Given the description of an element on the screen output the (x, y) to click on. 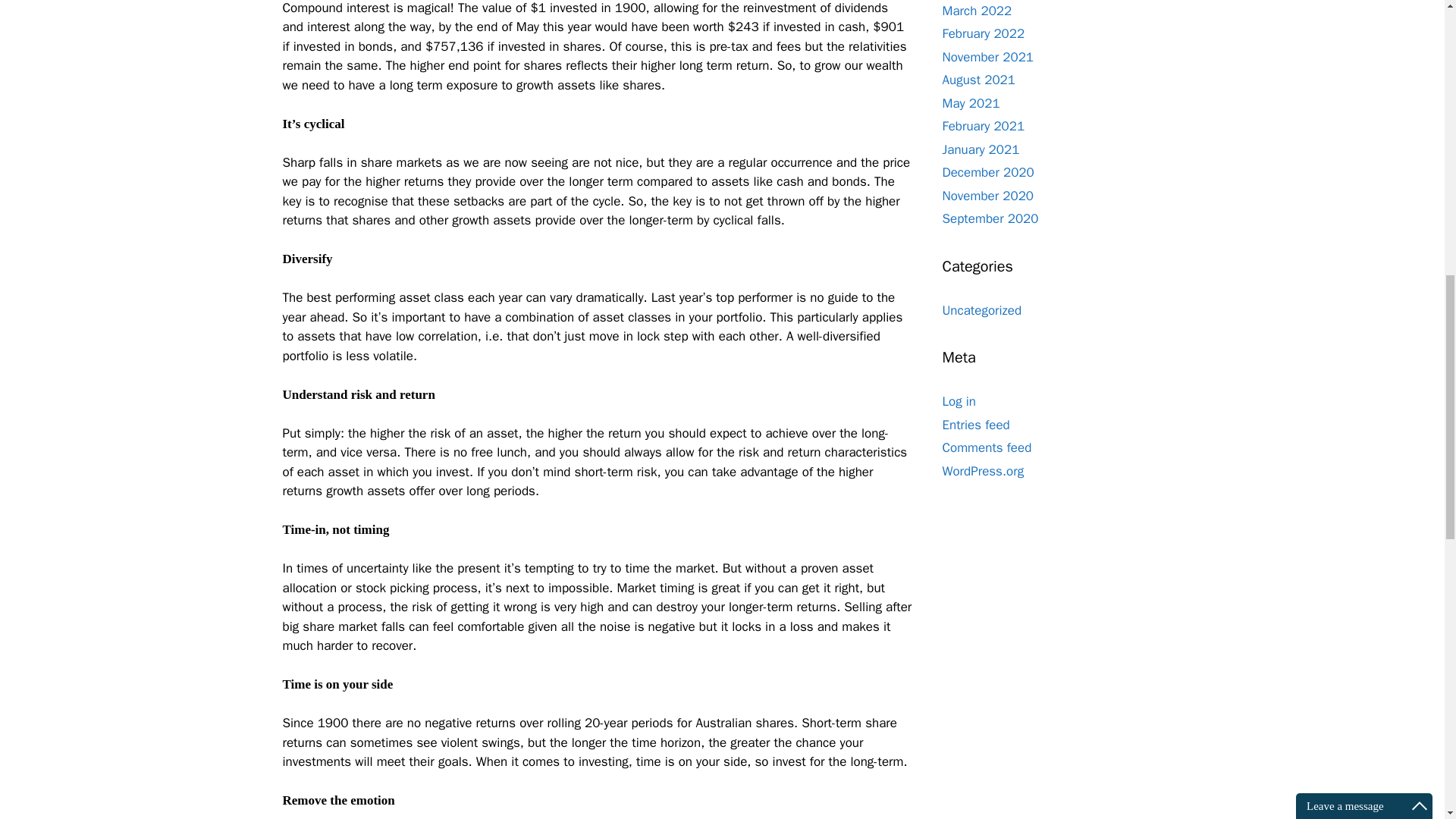
Scroll back to top (1406, 720)
